Given the description of an element on the screen output the (x, y) to click on. 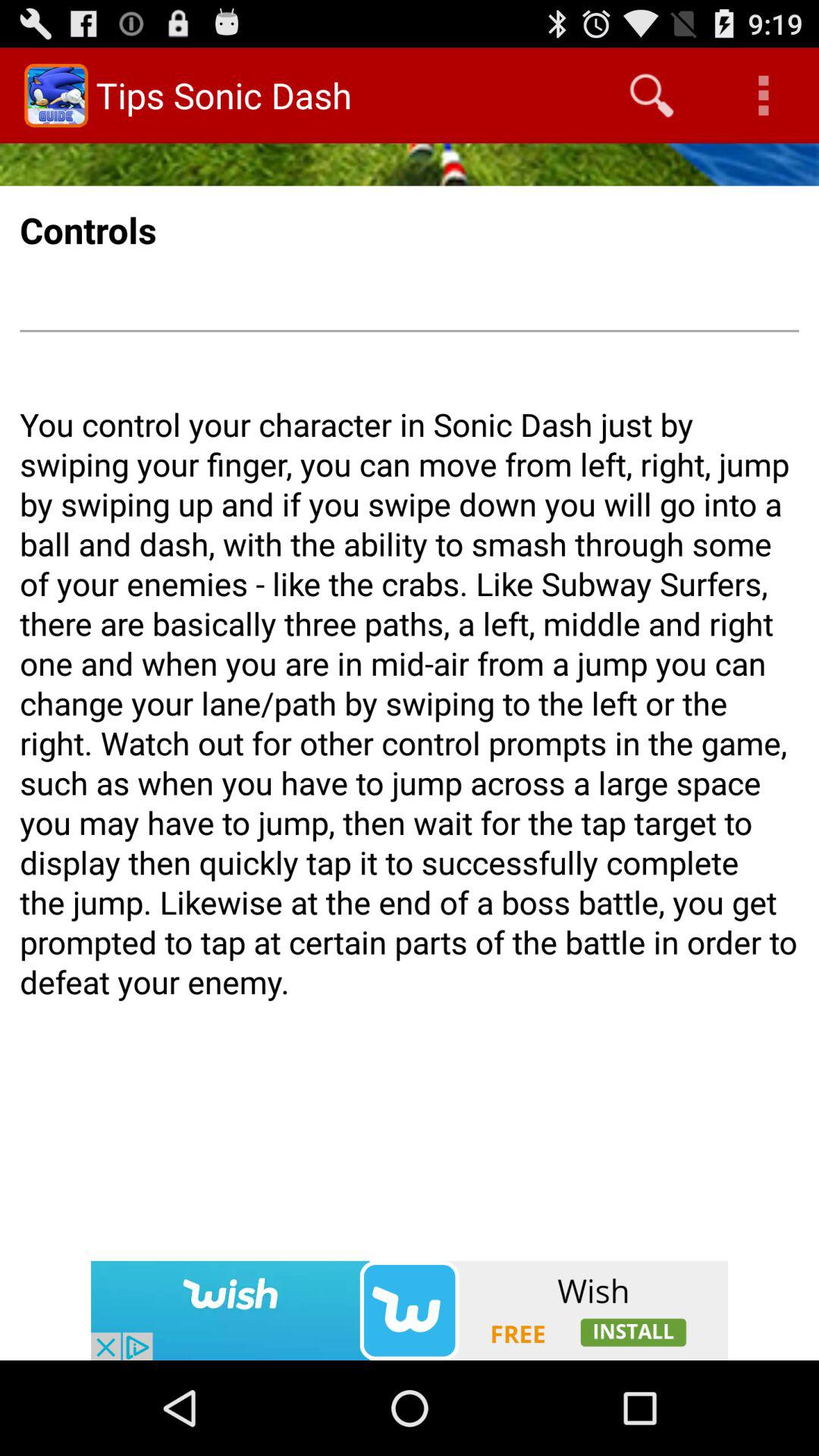
select advertisement (409, 1310)
